Given the description of an element on the screen output the (x, y) to click on. 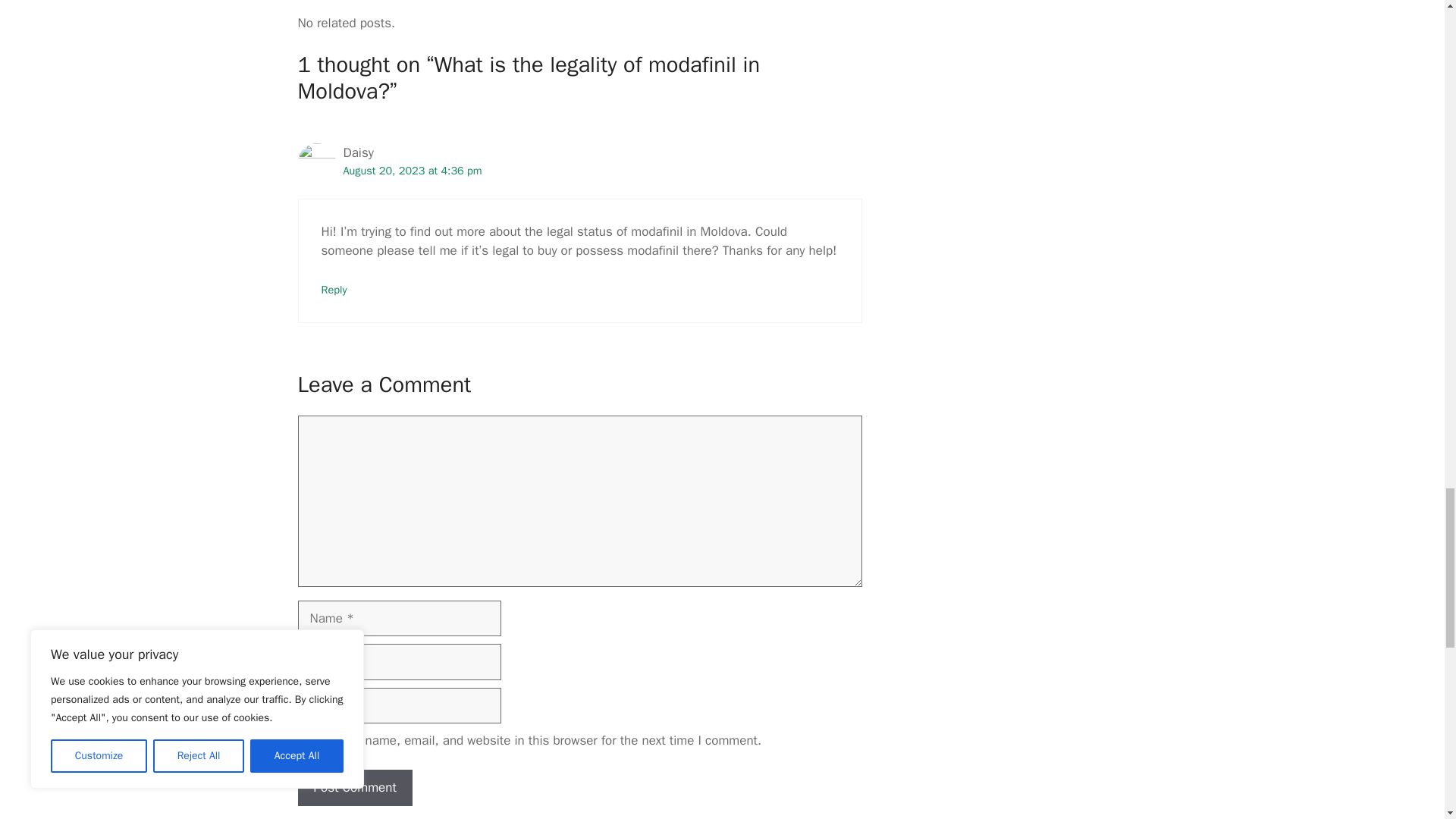
yes (302, 740)
Post Comment (354, 787)
